Given the description of an element on the screen output the (x, y) to click on. 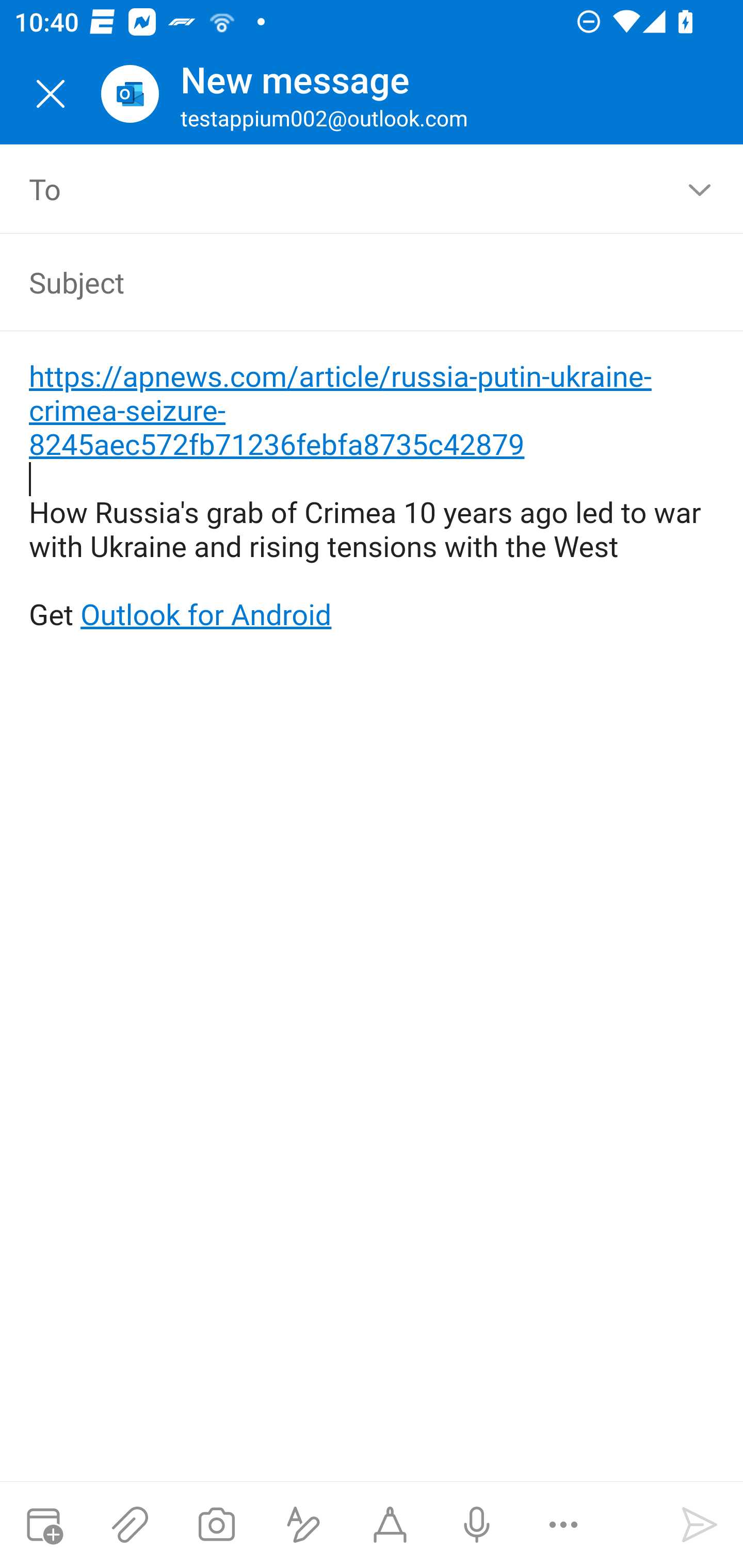
Close (50, 93)
Subject (342, 281)
Attach meeting (43, 1524)
Attach files (129, 1524)
Take a photo (216, 1524)
Show formatting options (303, 1524)
Start Ink compose (389, 1524)
Dictation (476, 1524)
More options (563, 1524)
Send (699, 1524)
